Given the description of an element on the screen output the (x, y) to click on. 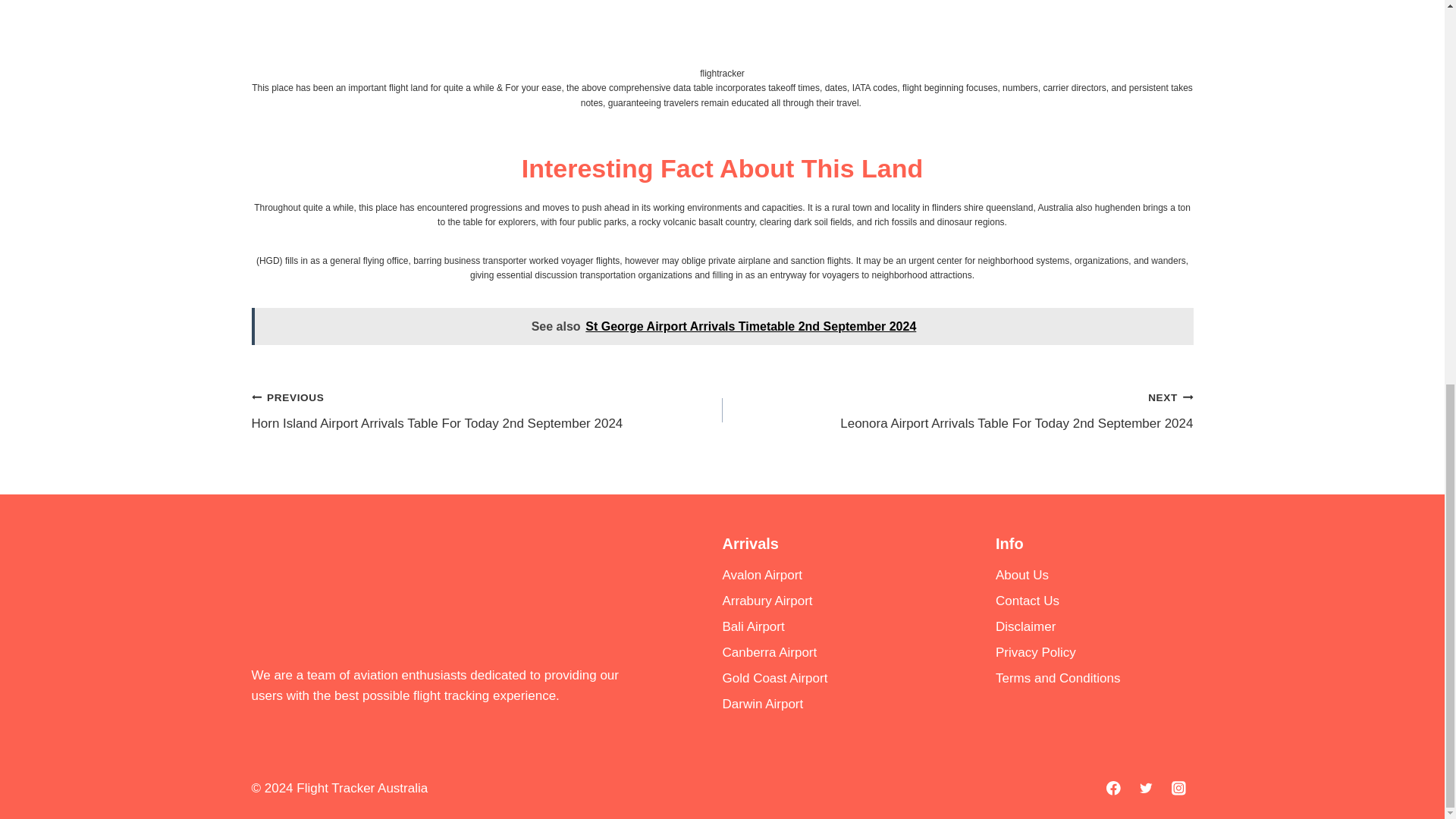
Avalon Airport (821, 575)
Darwin Airport (821, 704)
Gold Coast Airport (821, 678)
About Us (1094, 575)
Bali Airport (821, 626)
flightracker (722, 72)
flightracker (722, 72)
Disclaimer (1094, 626)
